Given the description of an element on the screen output the (x, y) to click on. 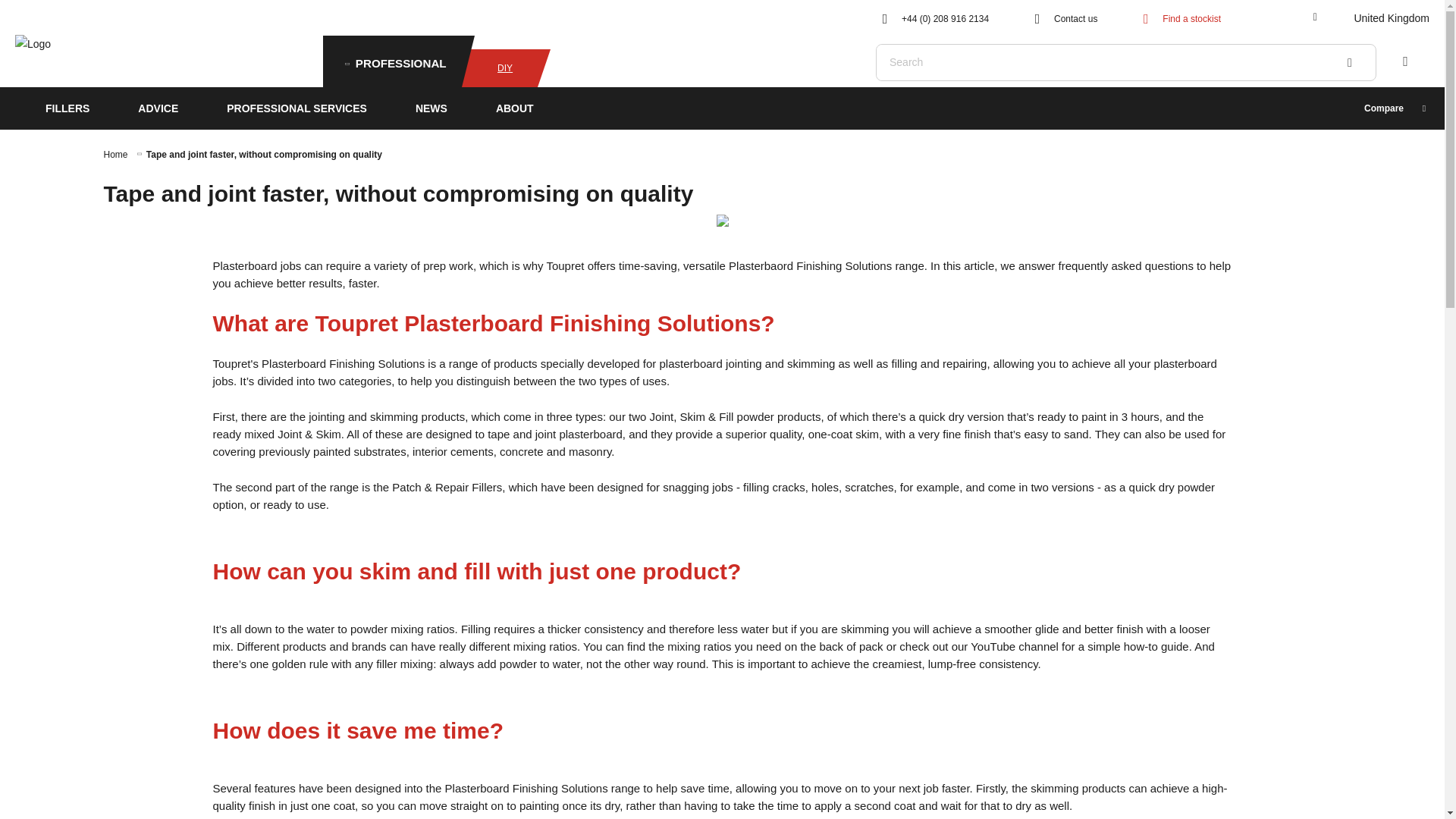
Contact us (1062, 18)
Find a stockist (1179, 18)
Search (1349, 62)
United Kingdom (1367, 18)
ADVICE (157, 108)
PROFESSIONAL SERVICES (296, 108)
DIY (499, 67)
FILLERS (56, 108)
PROFESSIONAL (392, 61)
